Given the description of an element on the screen output the (x, y) to click on. 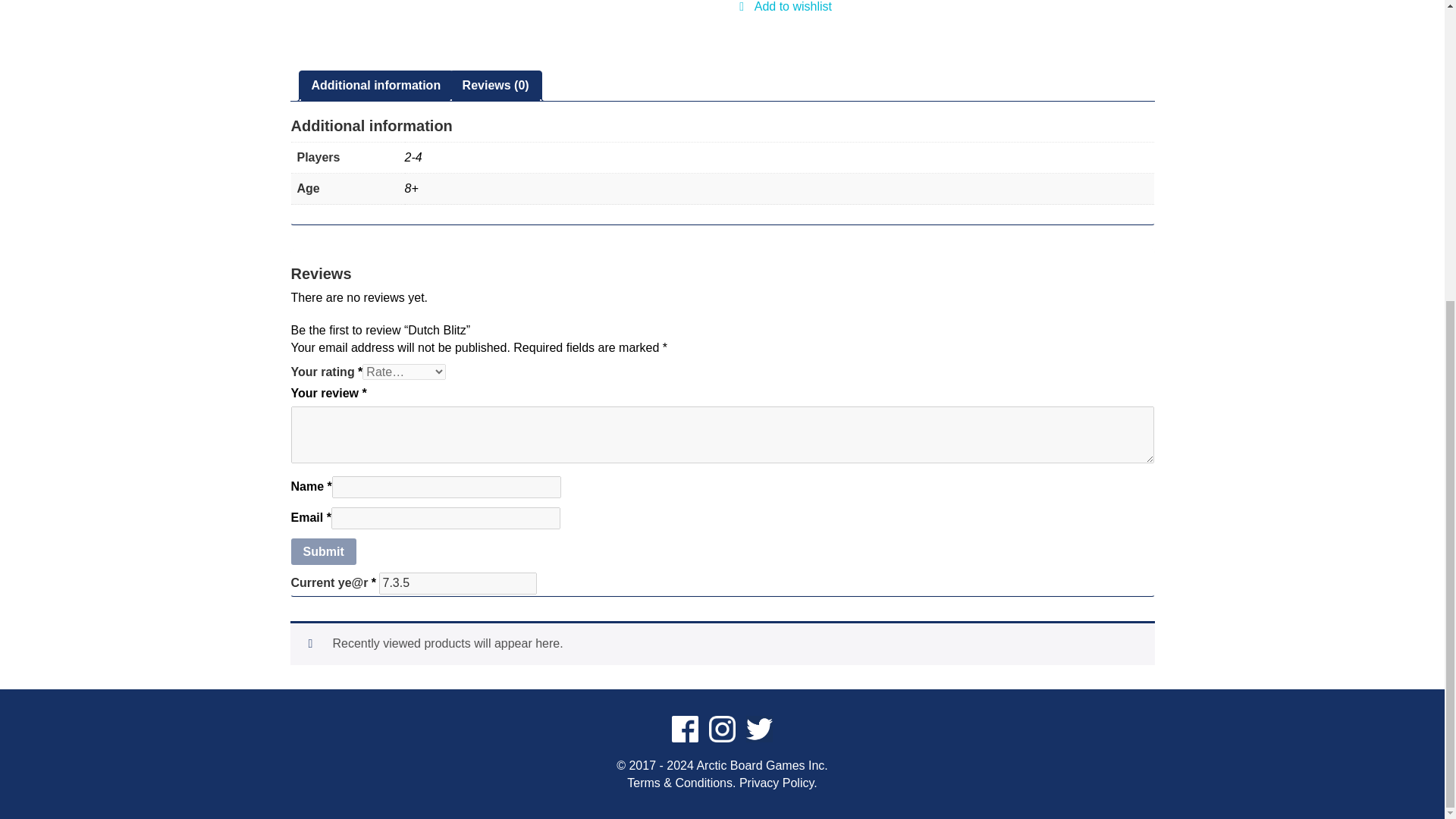
Submit (323, 551)
2-4 (413, 157)
7.3.5 (457, 583)
Additional information (376, 85)
Privacy Policy. (777, 783)
Add to wishlist (785, 15)
Submit (323, 551)
